Given the description of an element on the screen output the (x, y) to click on. 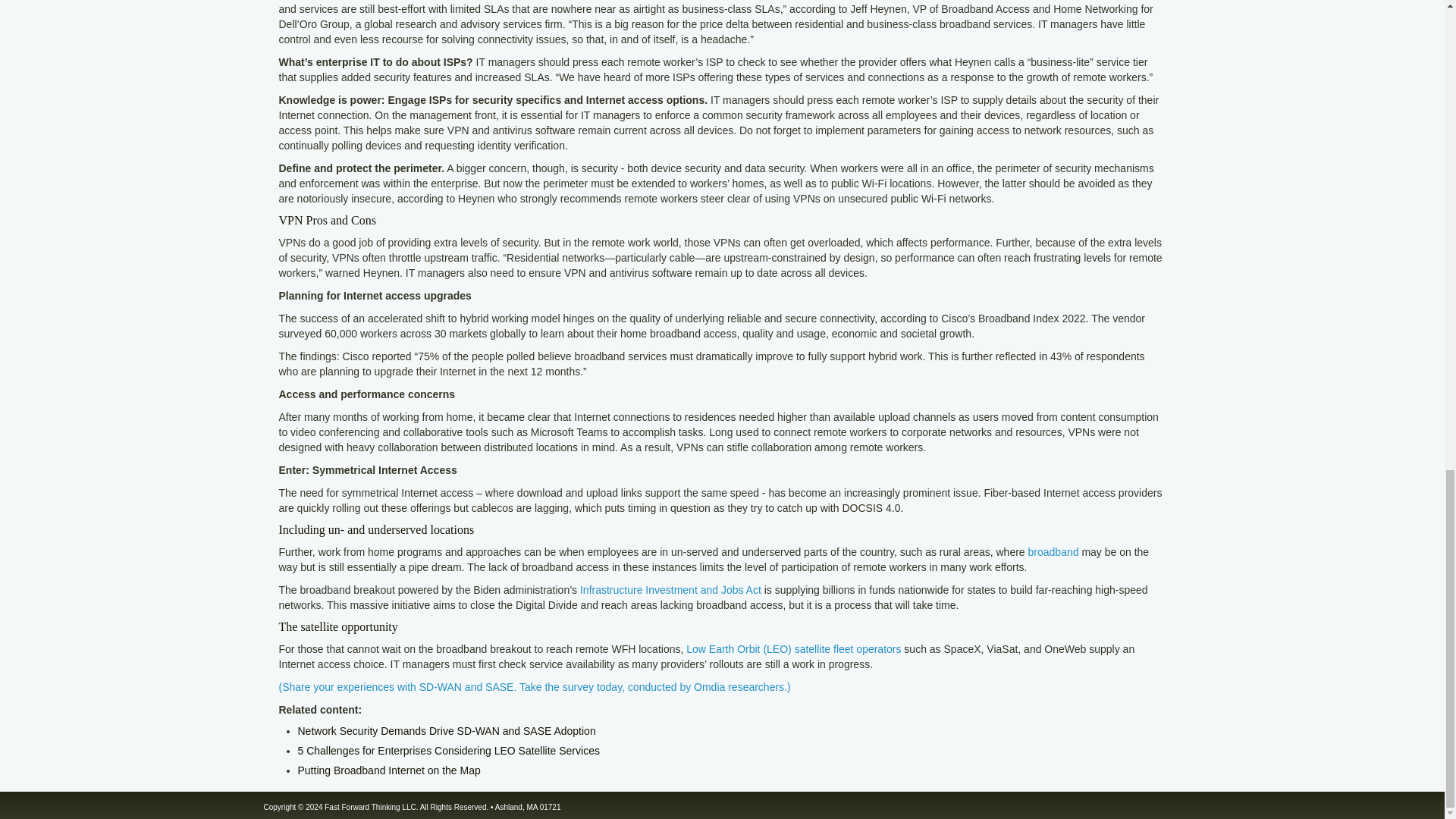
Network Security Demands Drive SD-WAN and SASE Adoption (446, 730)
Putting Broadband Internet on the Map (388, 770)
broadband (1052, 551)
Infrastructure Investment and Jobs Act (670, 589)
